Given the description of an element on the screen output the (x, y) to click on. 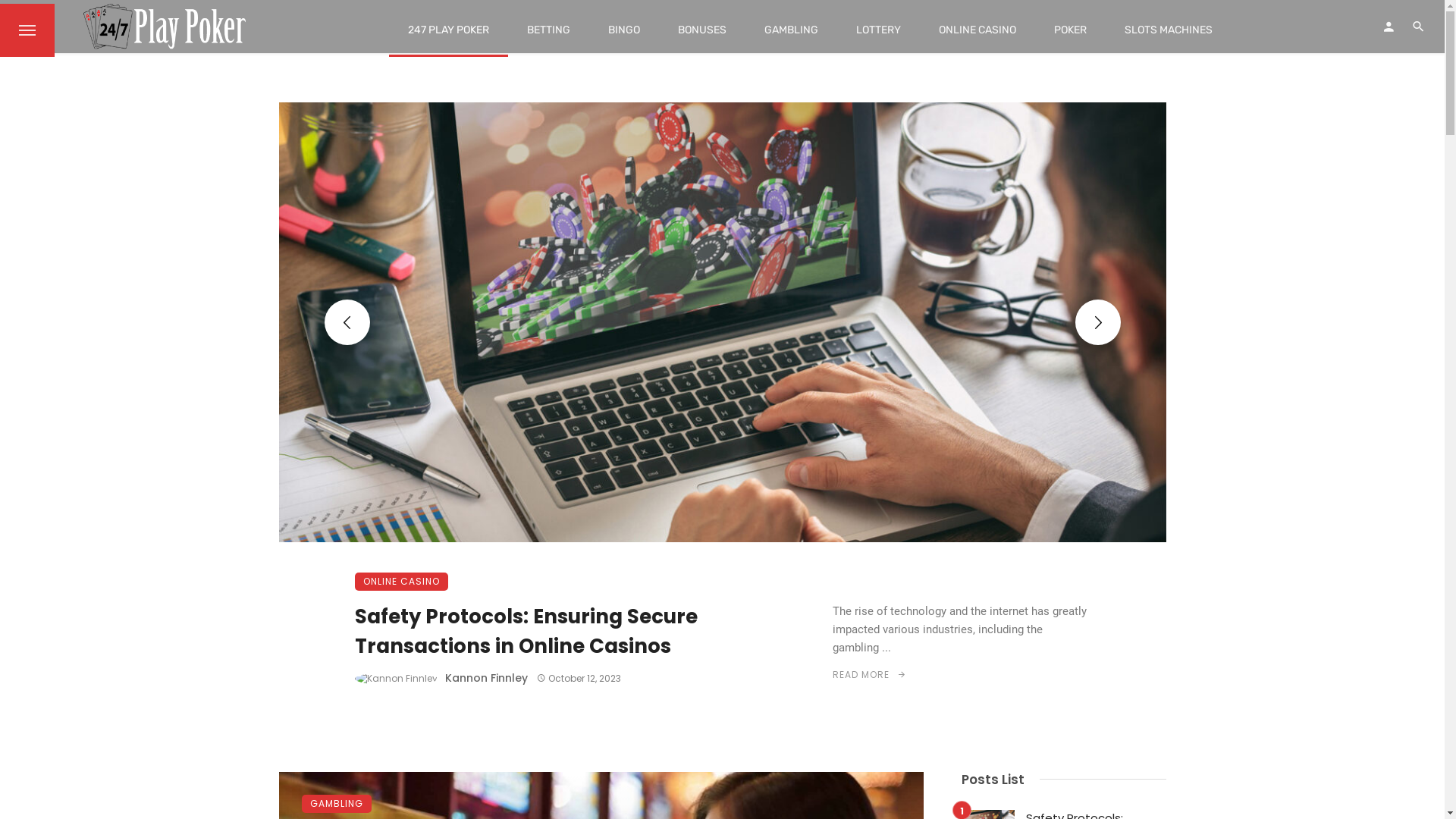
247 PLAY POKER Element type: text (448, 29)
GAMBLING Element type: text (791, 29)
SLOTS MACHINES Element type: text (1168, 29)
ONLINE CASINO Element type: text (977, 29)
READ MORE Element type: text (869, 674)
GAMBLING Element type: text (336, 803)
ONLINE CASINO Element type: text (401, 581)
BINGO Element type: text (623, 29)
BONUSES Element type: text (701, 29)
Kannon Finnley Element type: text (485, 677)
POKER Element type: text (1070, 29)
LOTTERY Element type: text (878, 29)
BETTING Element type: text (548, 29)
